Given the description of an element on the screen output the (x, y) to click on. 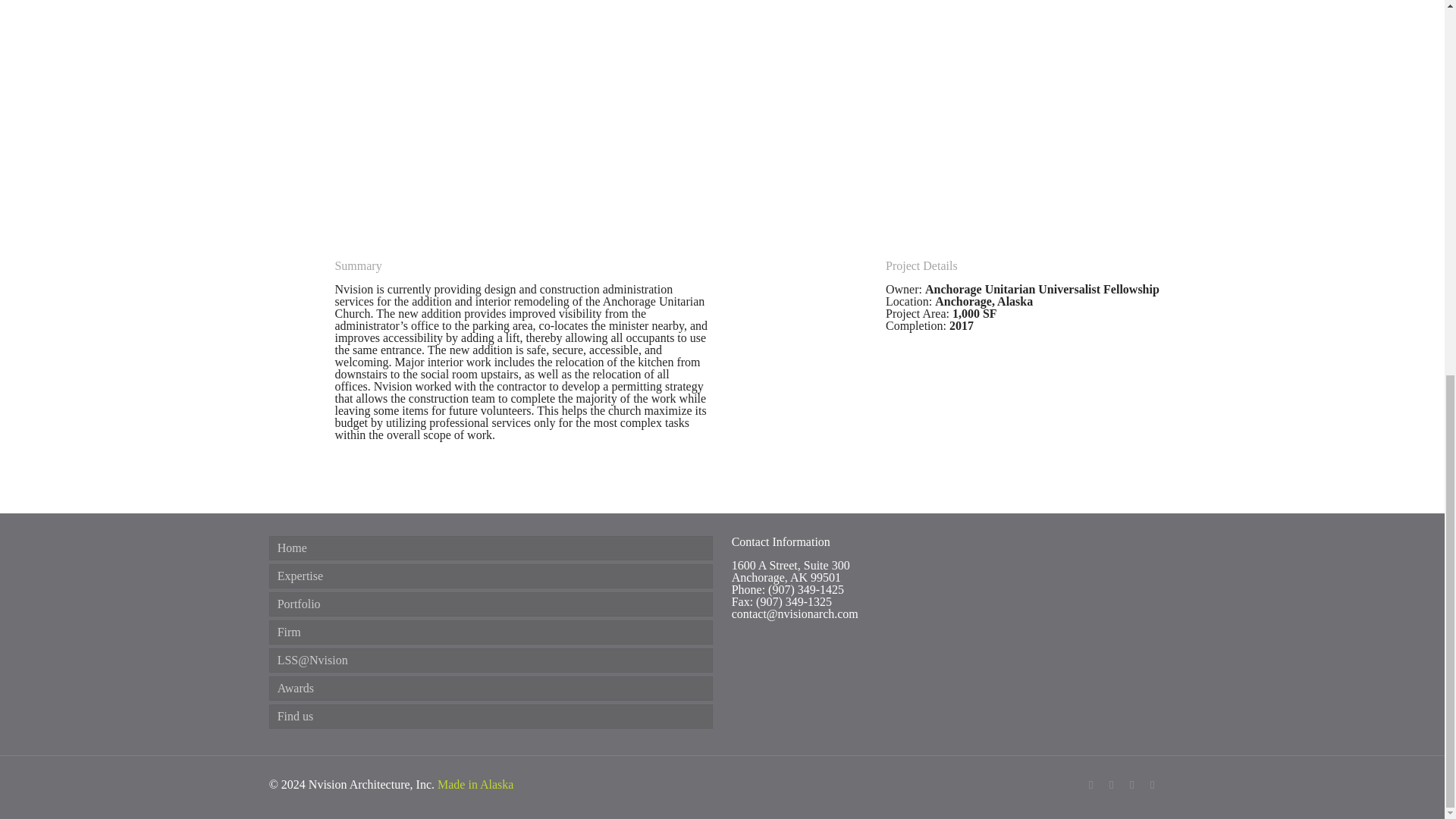
Facebook (1091, 784)
LinkedIn (1111, 784)
Home (491, 548)
Find us (491, 716)
Portfolio (491, 604)
Made in Alaska (475, 784)
Instagram (1132, 784)
Awards (491, 688)
Firm (491, 631)
Expertise (491, 576)
YouTube (1152, 784)
